Given the description of an element on the screen output the (x, y) to click on. 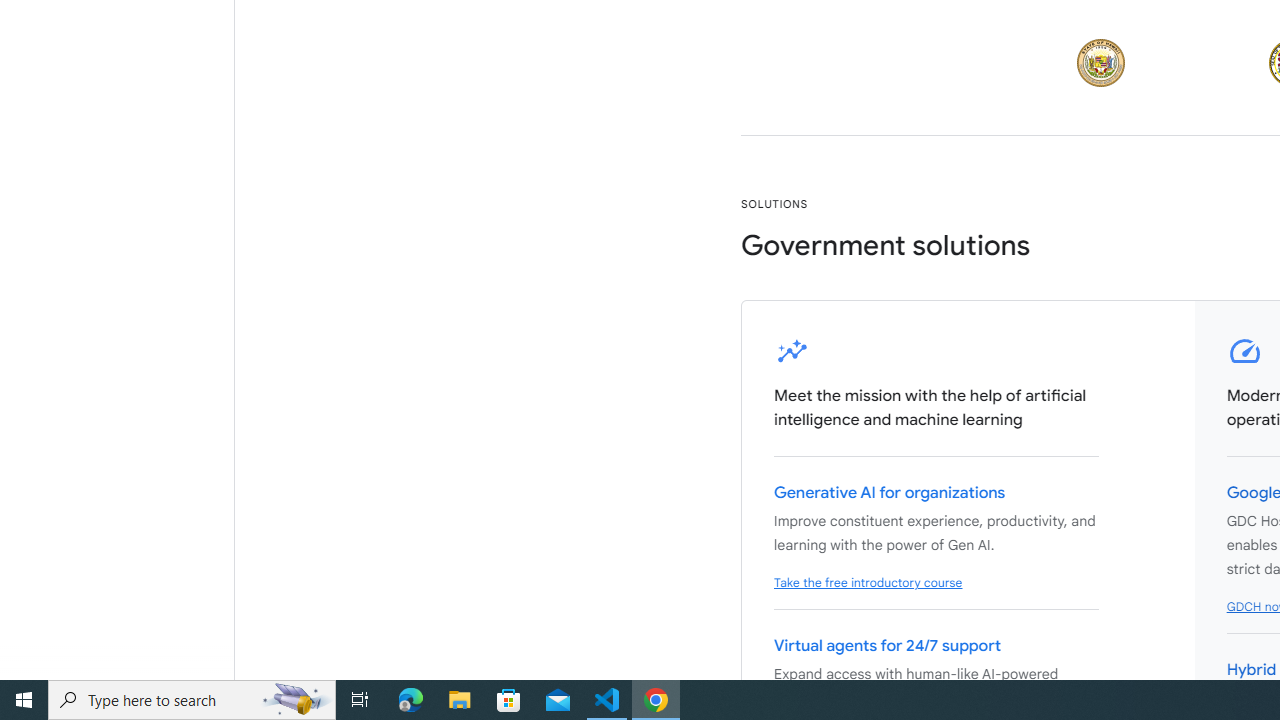
Take the free introductory course (868, 583)
Generative AI for organizations (890, 493)
Virtual agents for 24/7 support (887, 645)
State of Hawaii (1101, 62)
